Given the description of an element on the screen output the (x, y) to click on. 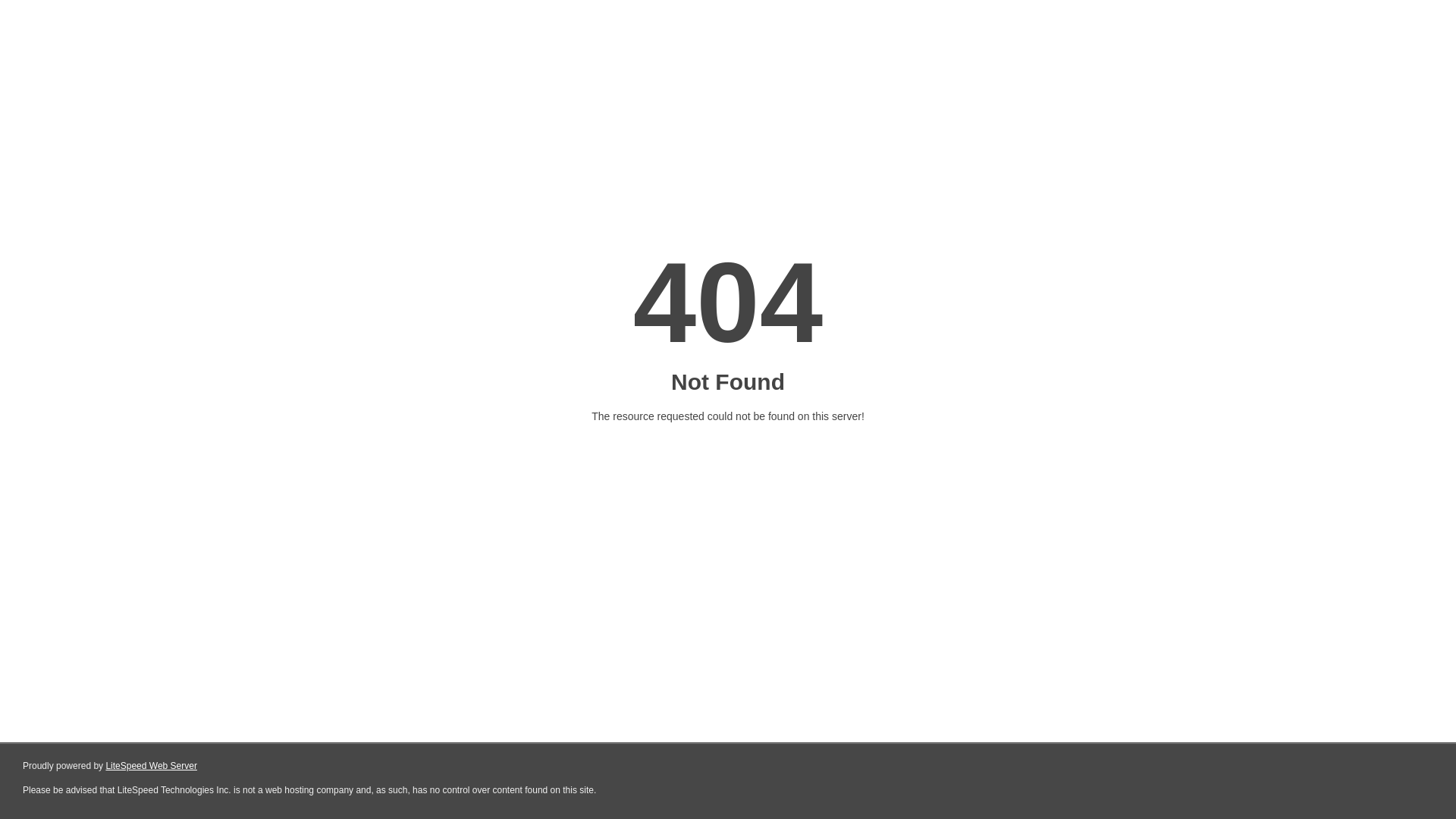
LiteSpeed Web Server Element type: text (151, 765)
